Given the description of an element on the screen output the (x, y) to click on. 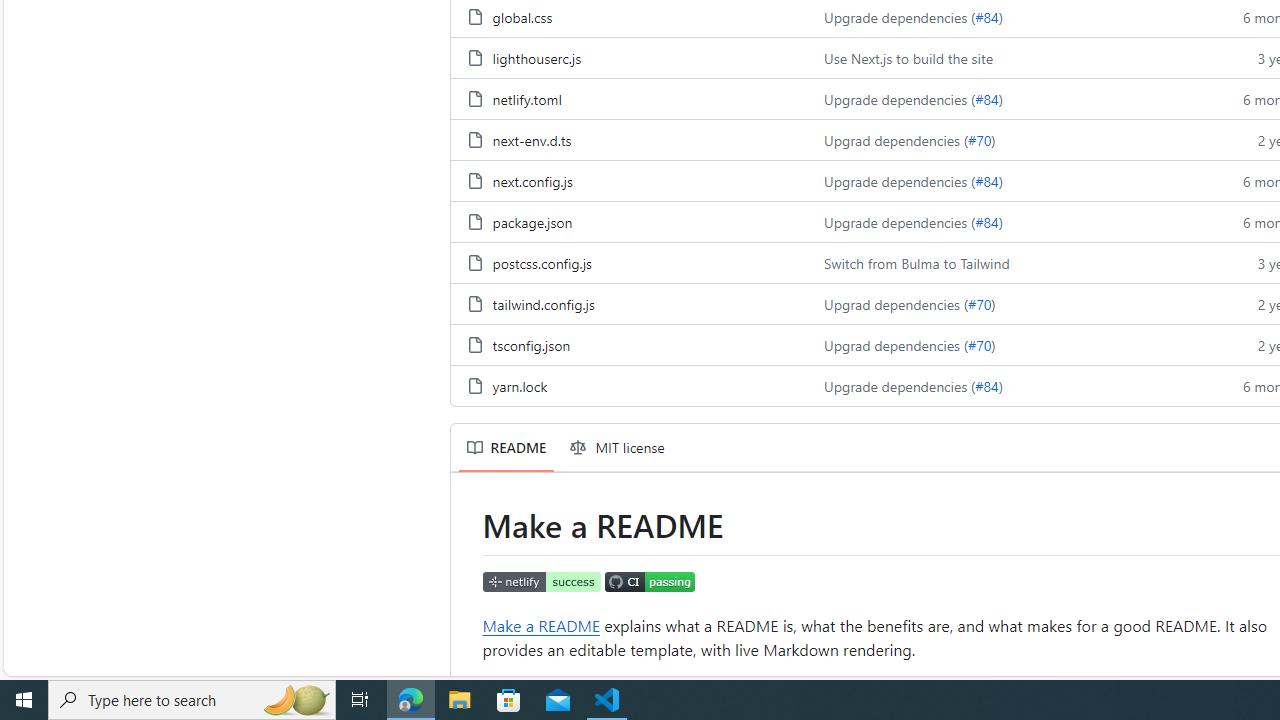
lighthouserc.js, (File) (536, 57)
Netlify Status (541, 583)
tailwind.config.js, (File) (629, 303)
lighthouserc.js, (File) (629, 56)
Upgrade dependencies ( (899, 385)
#84 (986, 385)
netlify.toml, (File) (629, 97)
yarn.lock, (File) (629, 385)
next.config.js, (File) (532, 180)
Use Next.js to build the site (908, 57)
tsconfig.json, (File) (530, 344)
CI status (649, 580)
#70 (979, 344)
Upgrade dependencies (#84) (1008, 385)
MIT license (617, 447)
